Given the description of an element on the screen output the (x, y) to click on. 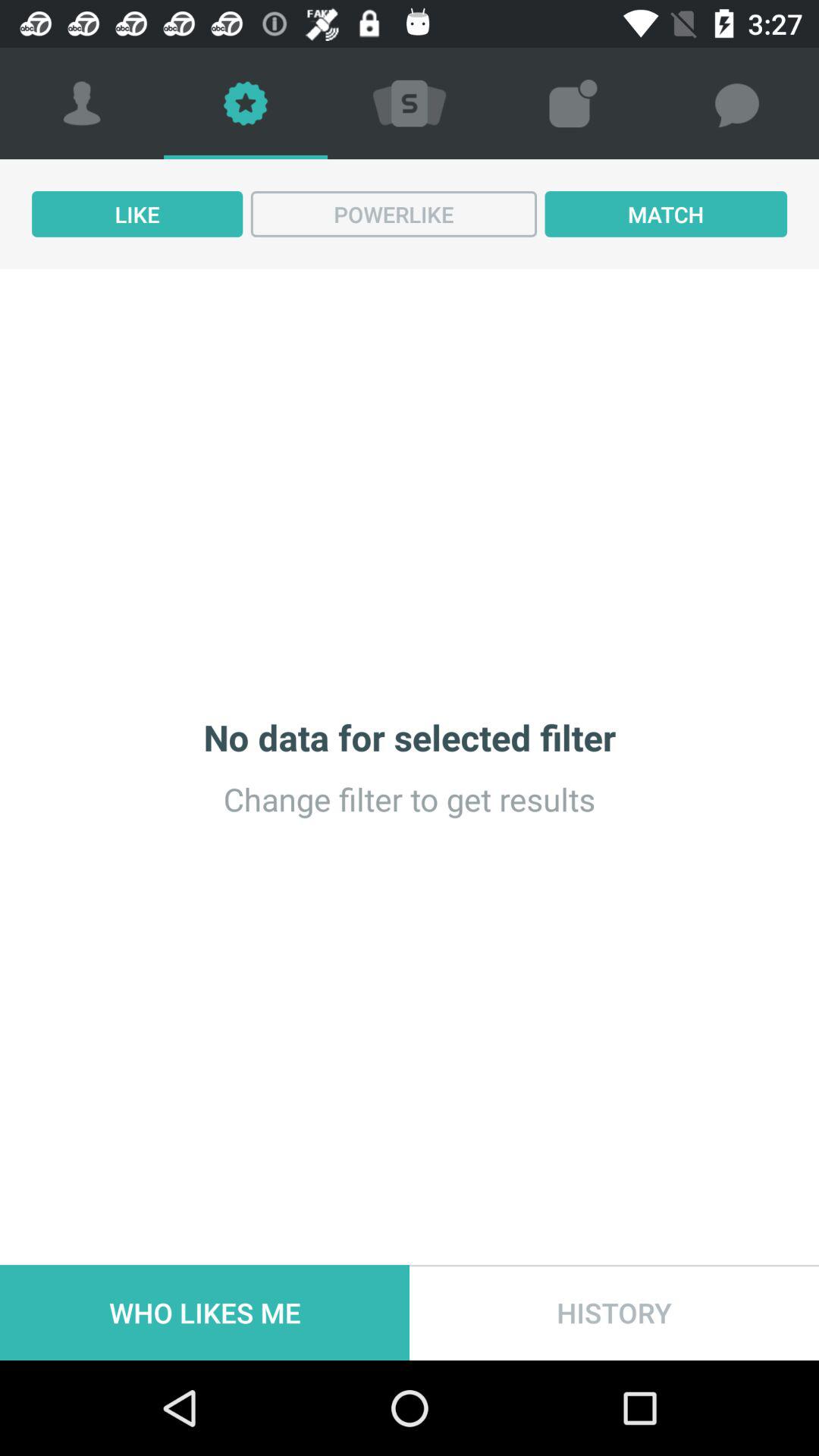
scroll until the history icon (614, 1312)
